Given the description of an element on the screen output the (x, y) to click on. 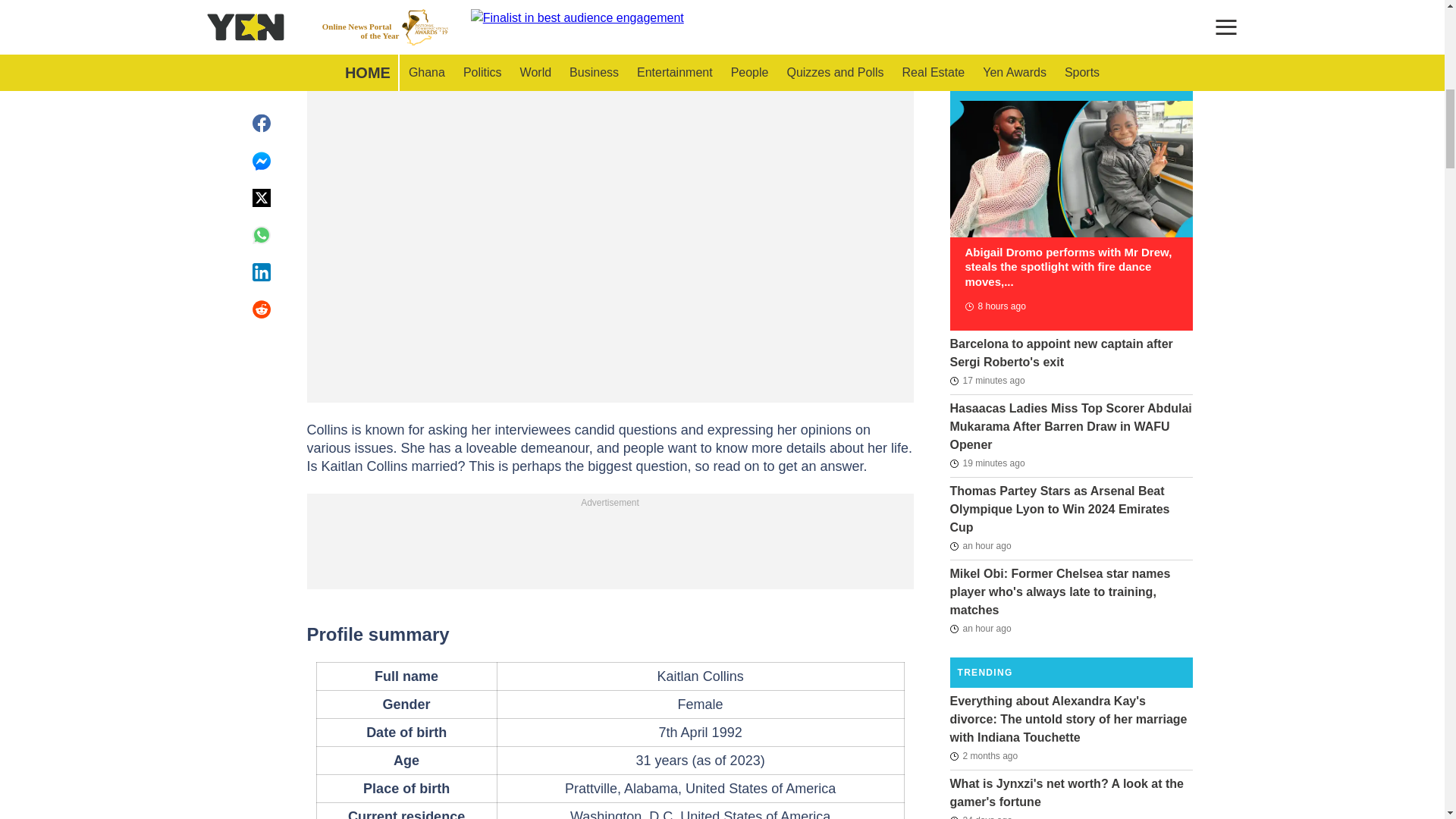
2024-08-11T21:59:40Z (979, 546)
Is Kaitlan Collins married? (609, 3)
2024-07-18T16:32:10Z (980, 815)
2024-08-11T22:51:39Z (987, 463)
2024-08-11T14:28:14Z (994, 306)
2024-08-11T22:54:00Z (987, 380)
2024-08-11T21:19:51Z (979, 628)
2024-05-17T08:50:35Z (983, 755)
